Given the description of an element on the screen output the (x, y) to click on. 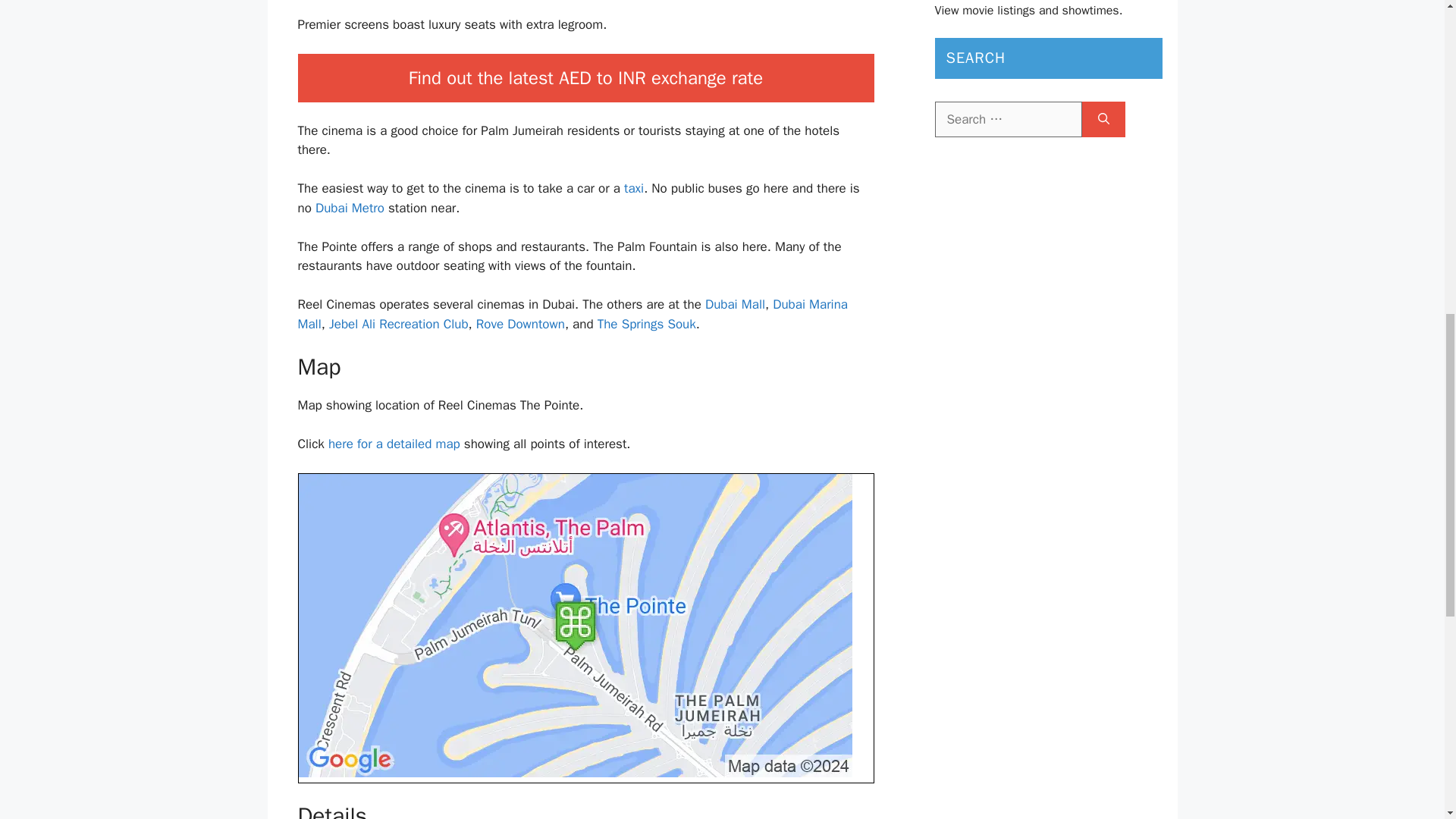
Find out the latest AED to INR exchange rate (585, 78)
taxi (633, 188)
Rove Downtown (520, 324)
The Springs Souk (645, 324)
Dubai Marina Mall (572, 314)
Jebel Ali Recreation Club (398, 324)
Dubai Mall (734, 304)
Search for: (1007, 119)
Dubai Metro (349, 207)
here for a detailed map (394, 443)
